Given the description of an element on the screen output the (x, y) to click on. 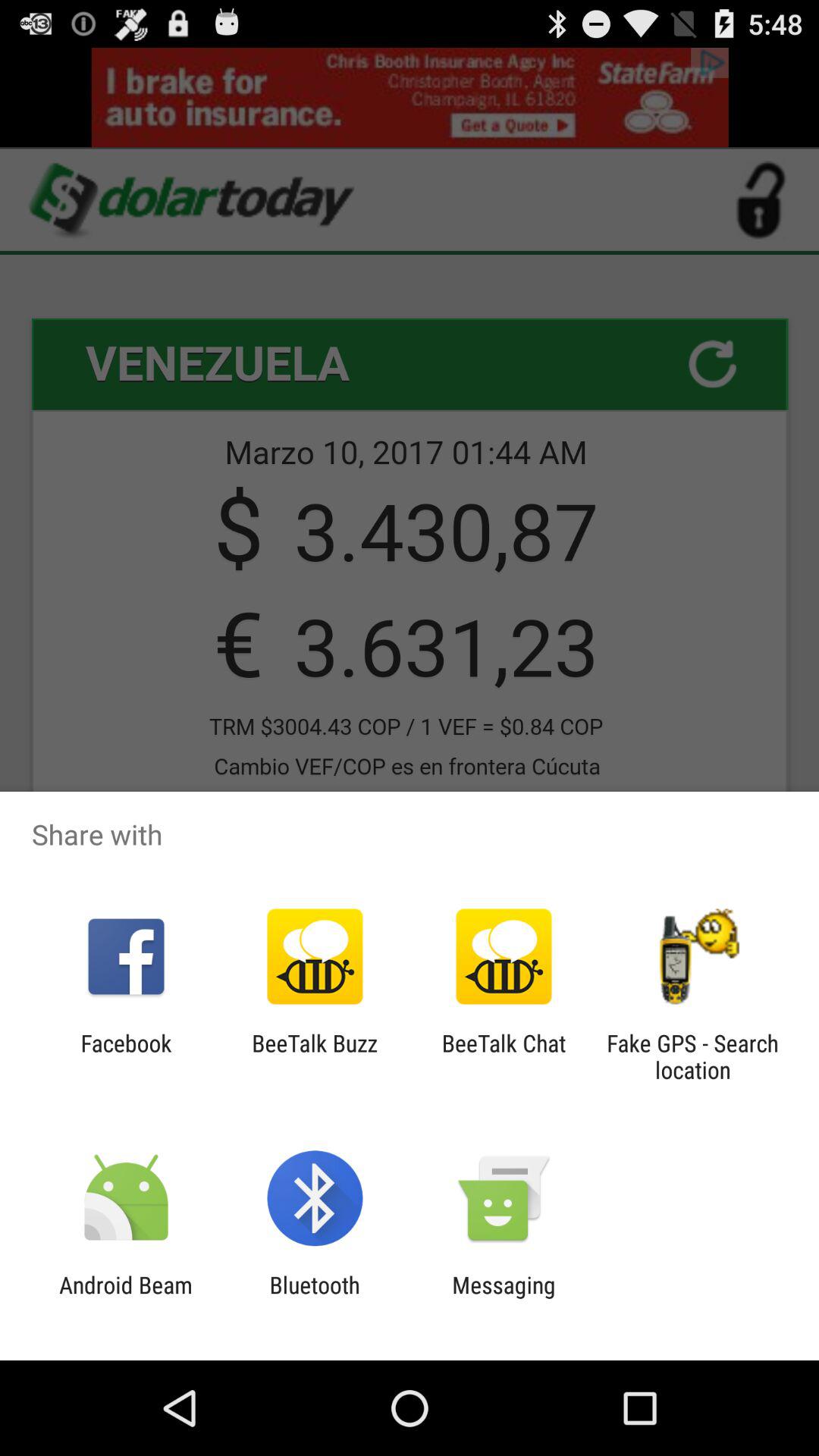
press app next to bluetooth item (125, 1298)
